Given the description of an element on the screen output the (x, y) to click on. 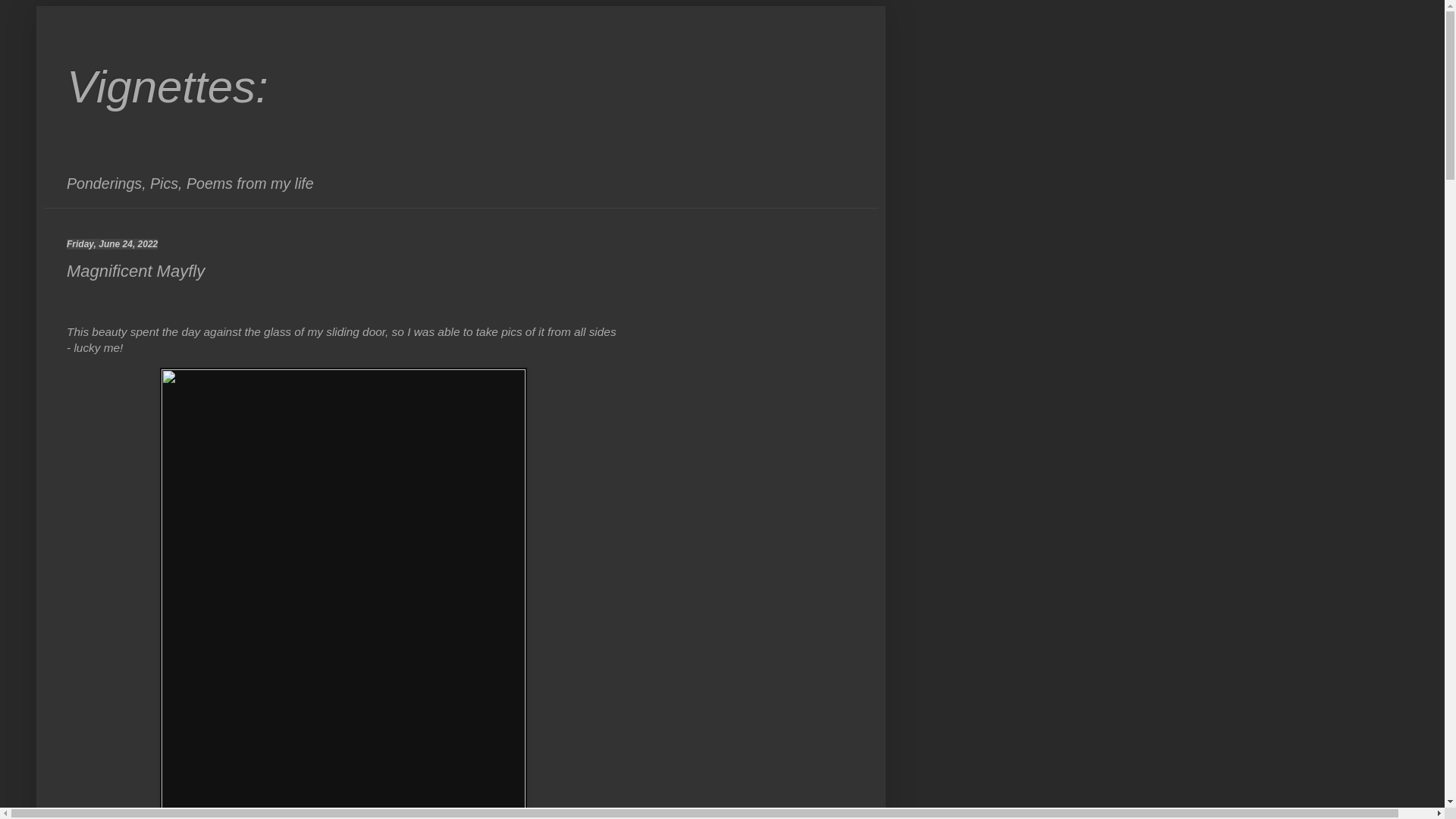
Vignettes: (166, 86)
